Given the description of an element on the screen output the (x, y) to click on. 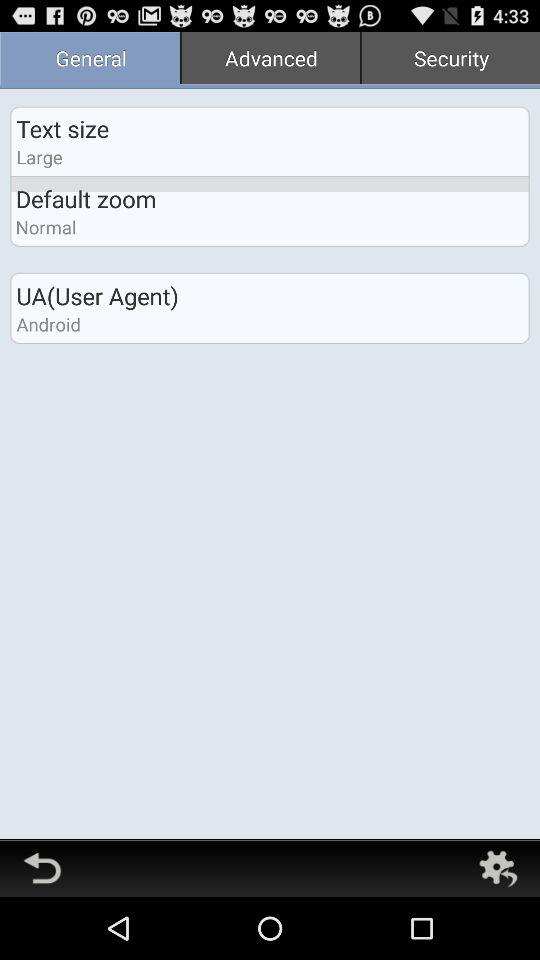
turn on item above the text size item (90, 60)
